Given the description of an element on the screen output the (x, y) to click on. 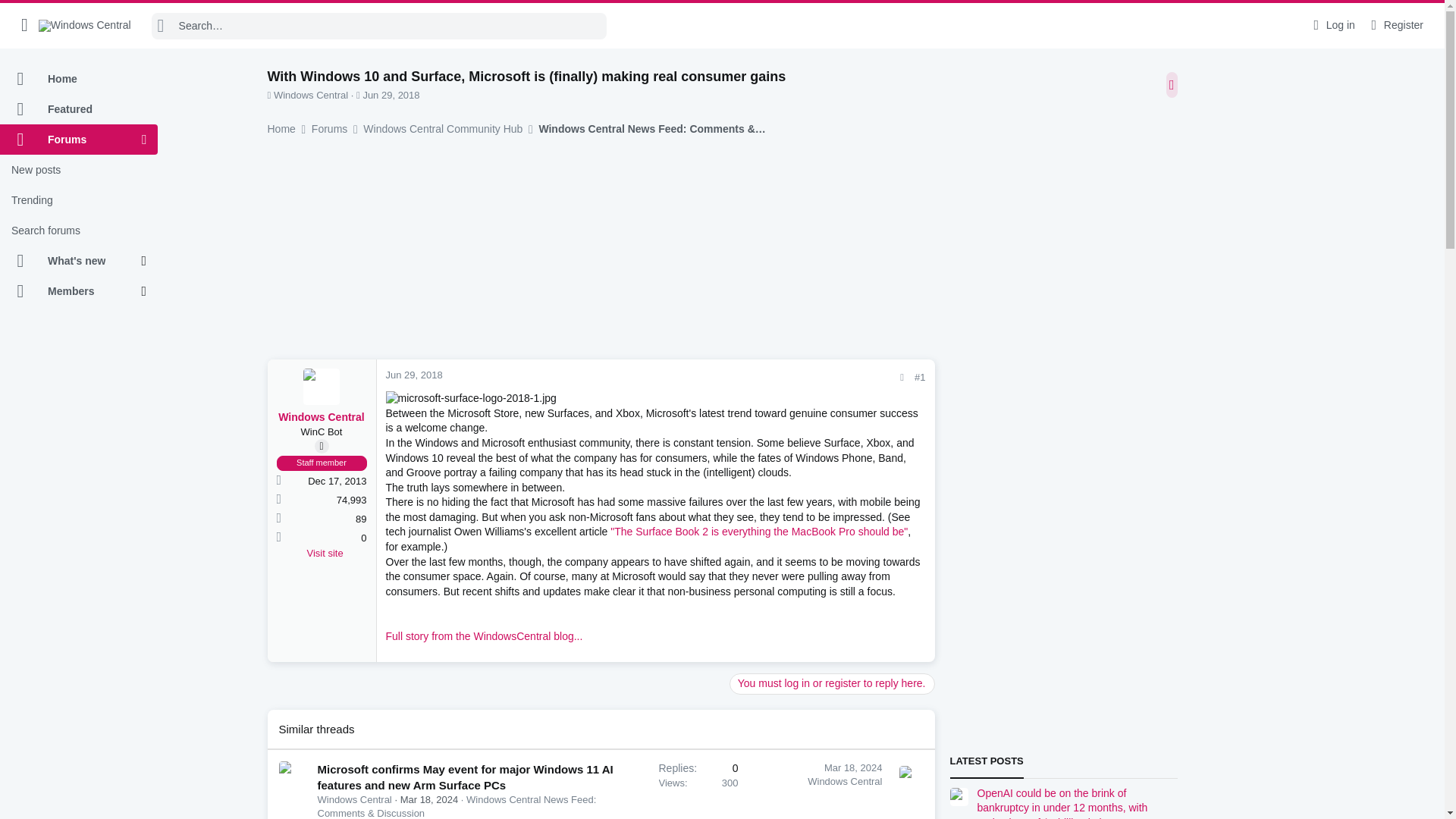
Jun 29, 2018 at 5:10 PM (413, 374)
Log in (1332, 24)
Sidebar (1171, 84)
Search forums (78, 230)
Points (278, 537)
New posts (78, 169)
Messages (278, 500)
Forums (70, 139)
Reaction score (278, 518)
Featured (78, 109)
Visit site (335, 553)
Register (1395, 24)
Thread starter (268, 94)
Original poster (321, 445)
